Given the description of an element on the screen output the (x, y) to click on. 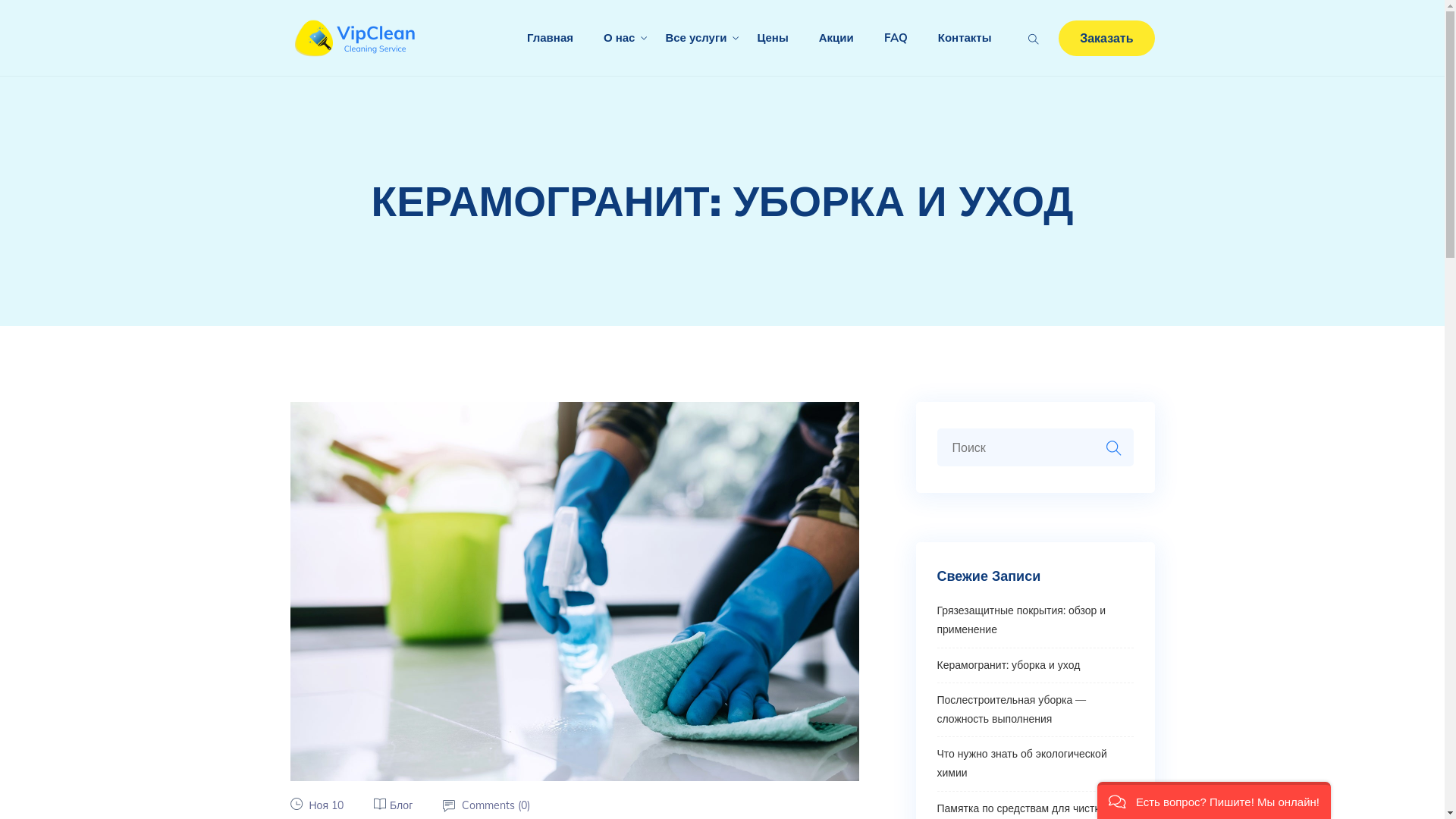
FAQ Element type: text (895, 37)
Comments (0) Element type: text (495, 805)
